Given the description of an element on the screen output the (x, y) to click on. 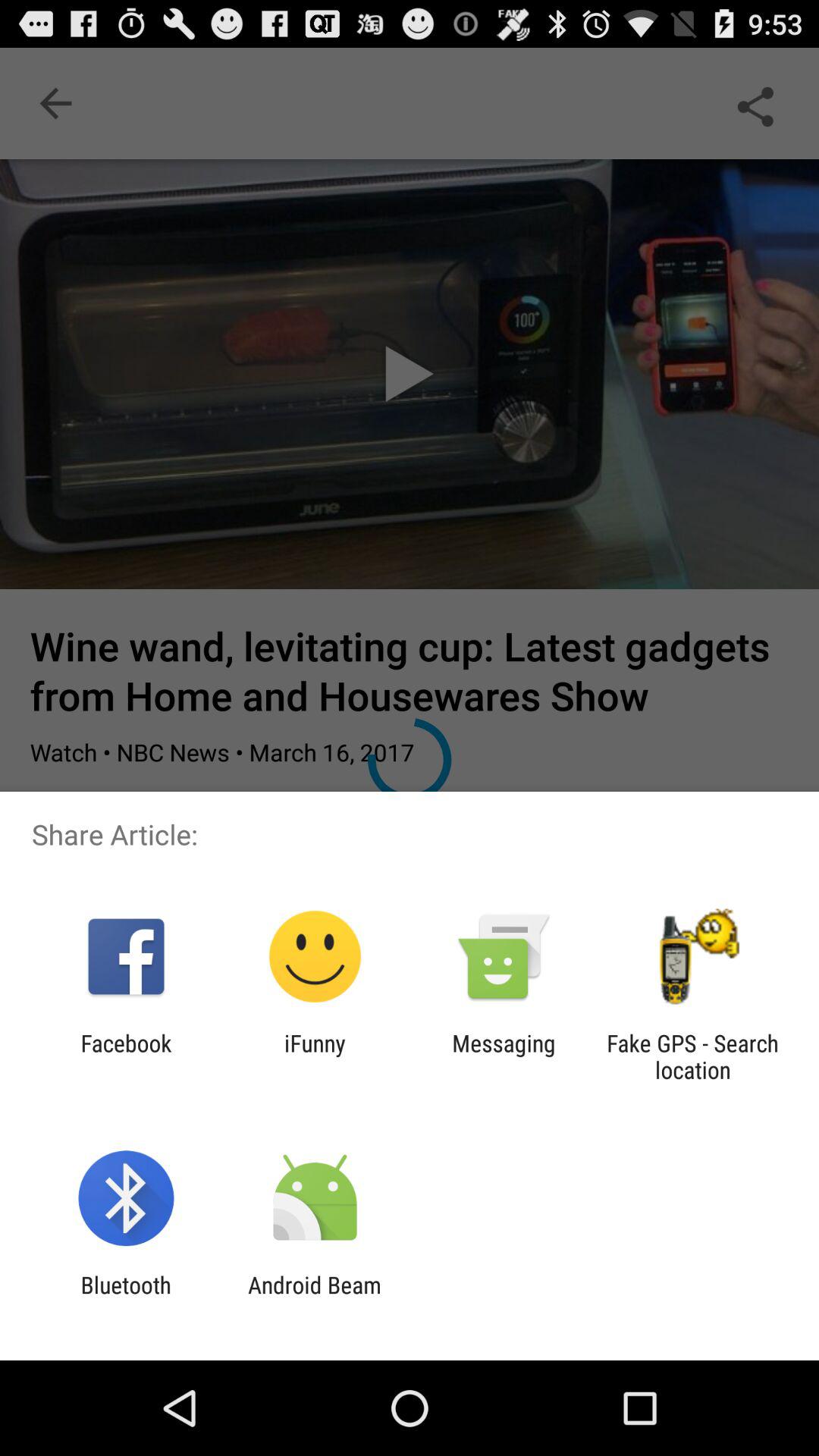
turn off app to the left of android beam app (125, 1298)
